Given the description of an element on the screen output the (x, y) to click on. 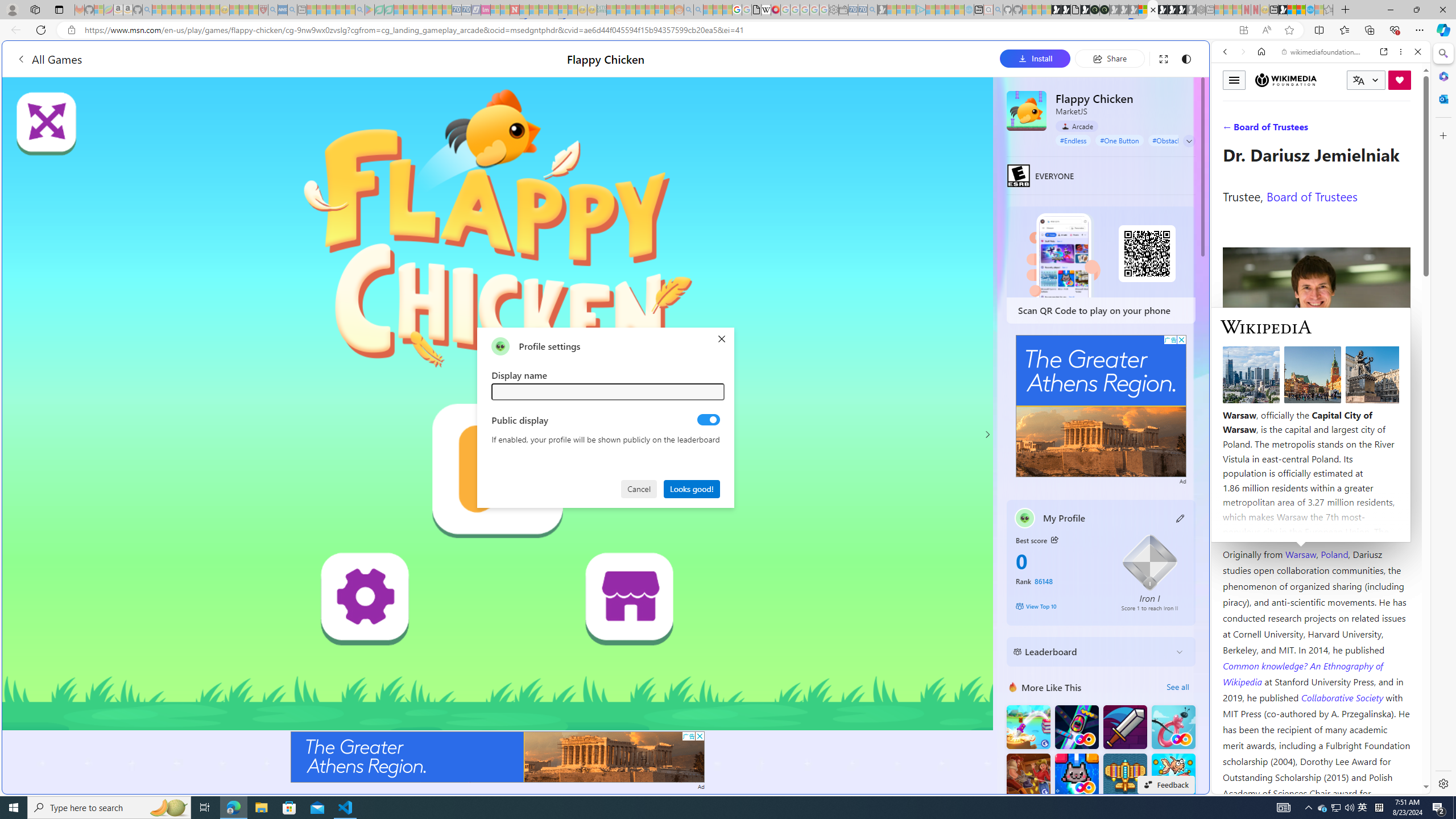
Arcade (1076, 126)
Full screen (1163, 58)
Donate now (1399, 80)
